Given the description of an element on the screen output the (x, y) to click on. 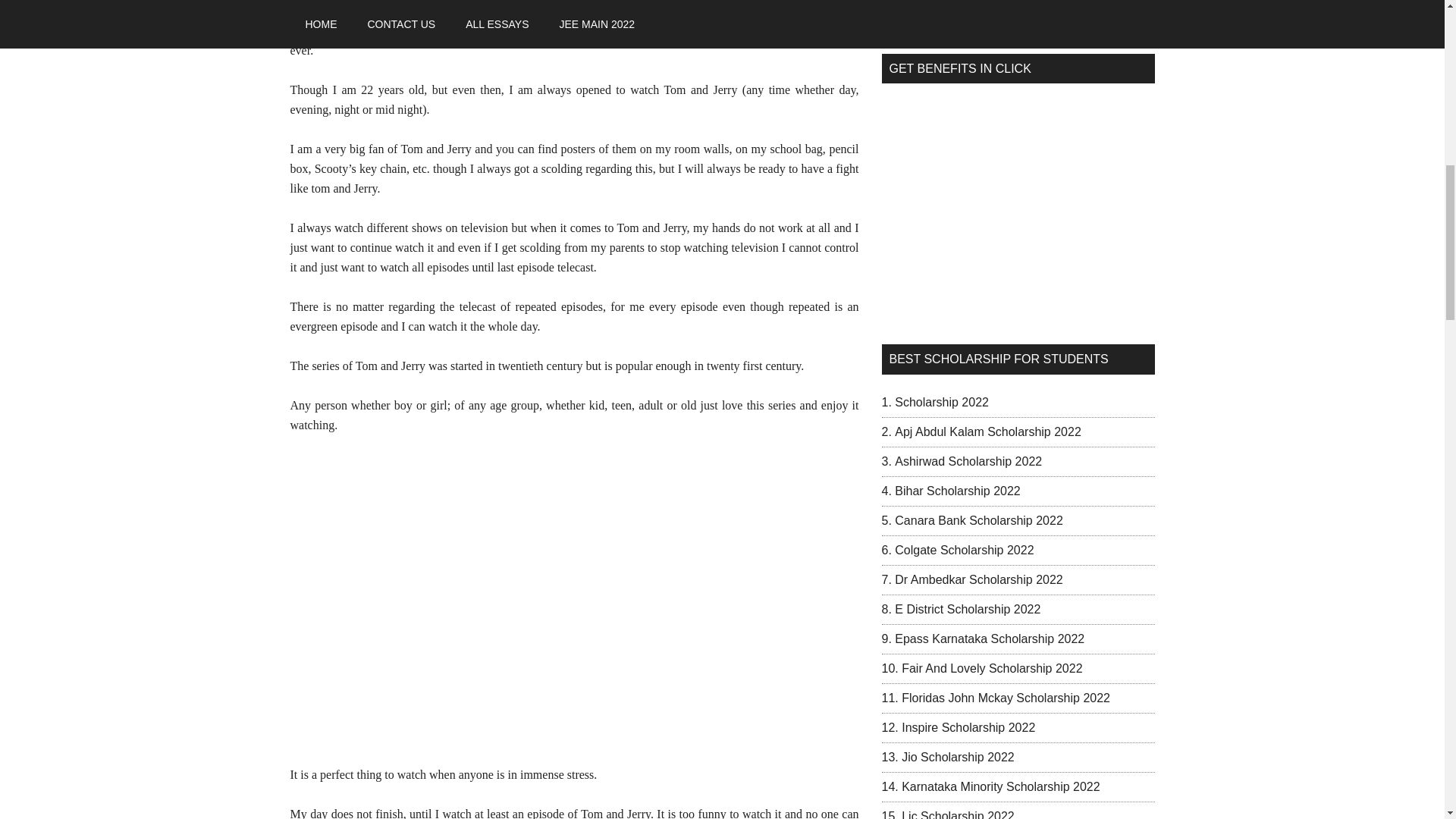
Advertisement (1017, 207)
Advertisement (1017, 11)
